Given the description of an element on the screen output the (x, y) to click on. 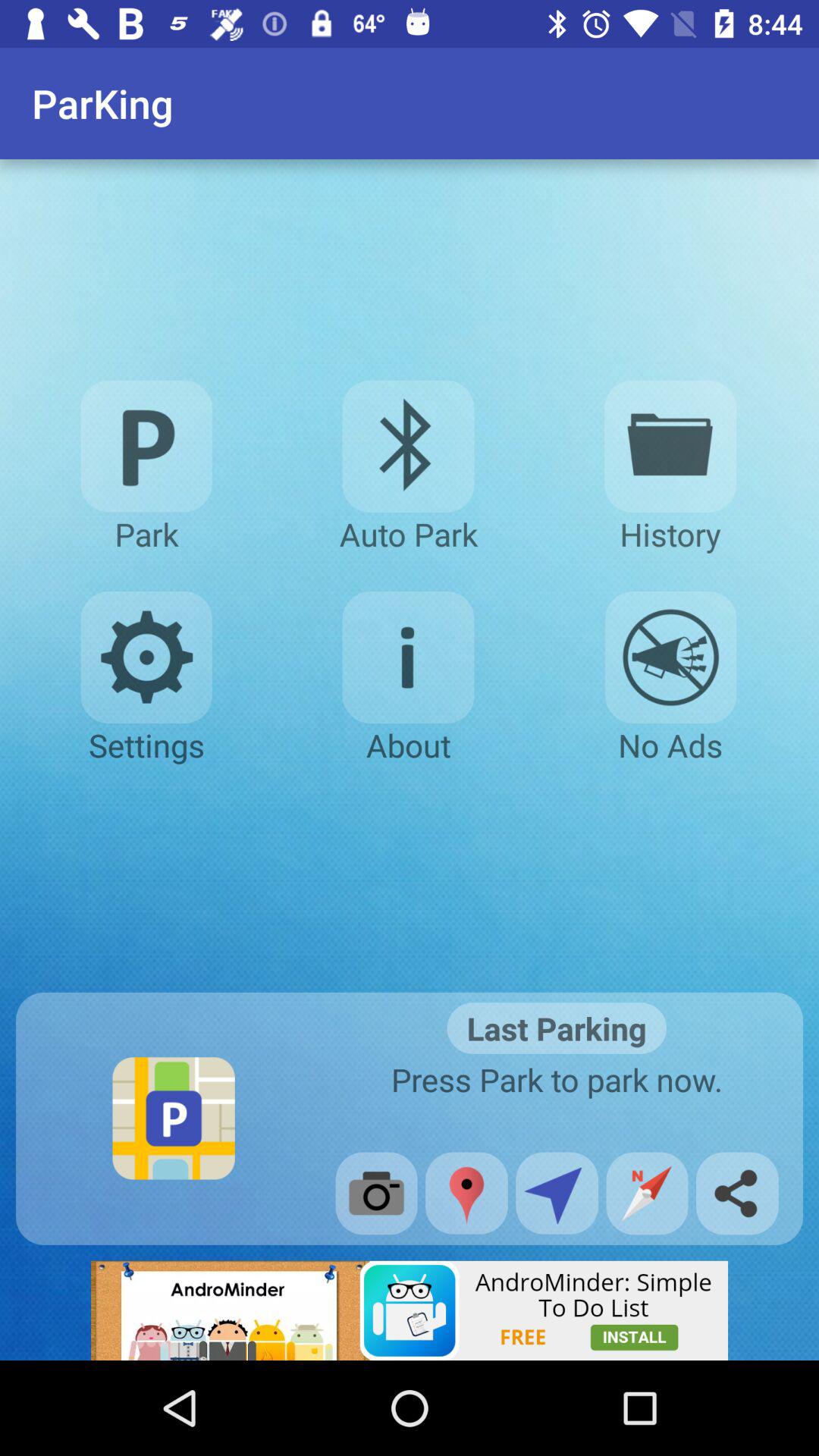
click the park option (146, 445)
